Given the description of an element on the screen output the (x, y) to click on. 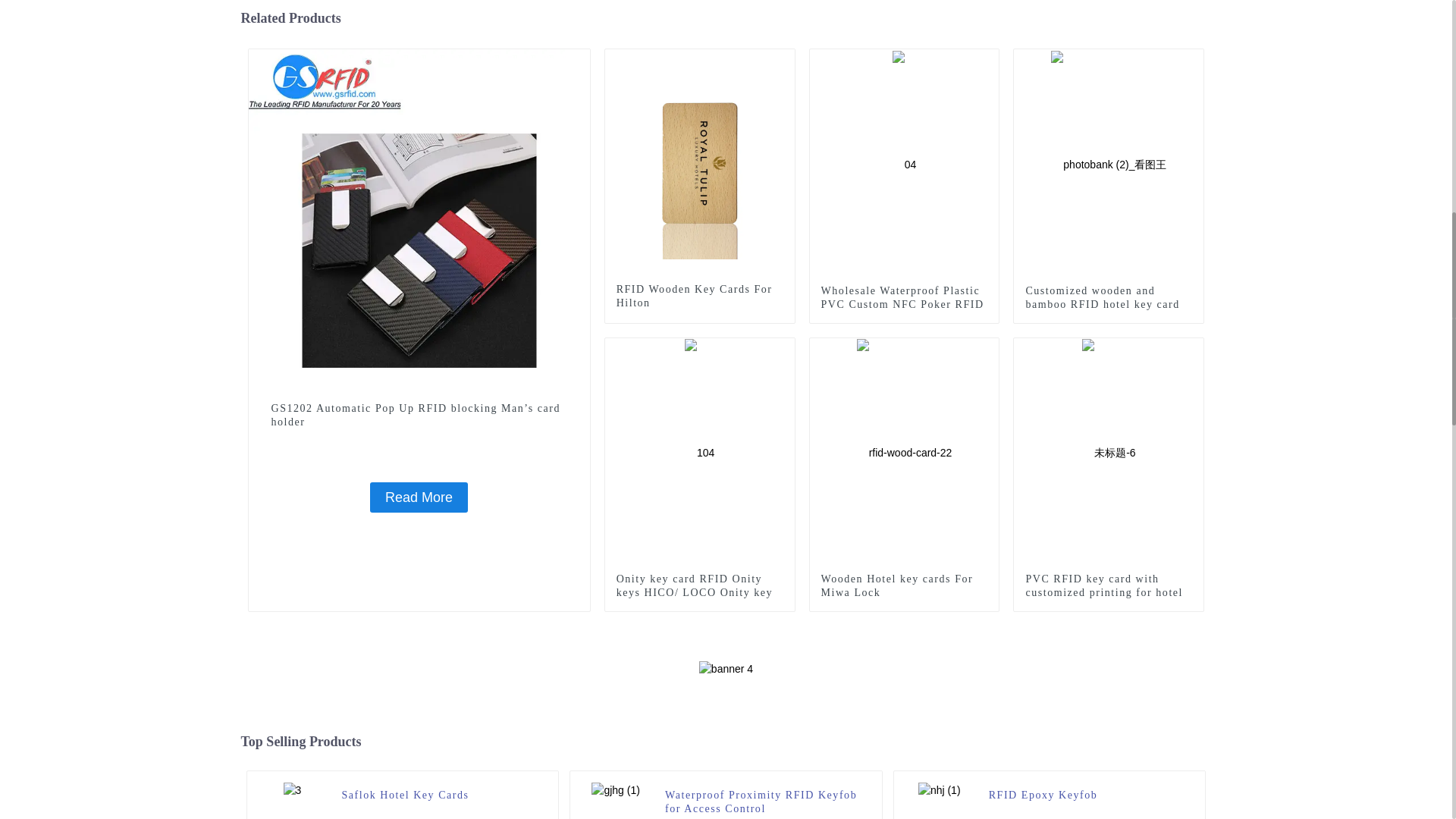
gdf (578, 60)
Customized wooden and bamboo RFID hotel key card  (1108, 162)
Customized wooden and bamboo RFID hotel key card  (1108, 298)
104 (782, 349)
RFID Wooden Key Cards For Hilton (699, 296)
RFID Wooden Key Cards For Hilton (699, 162)
04 (986, 60)
rfid-wood-card-43 (782, 60)
